Given the description of an element on the screen output the (x, y) to click on. 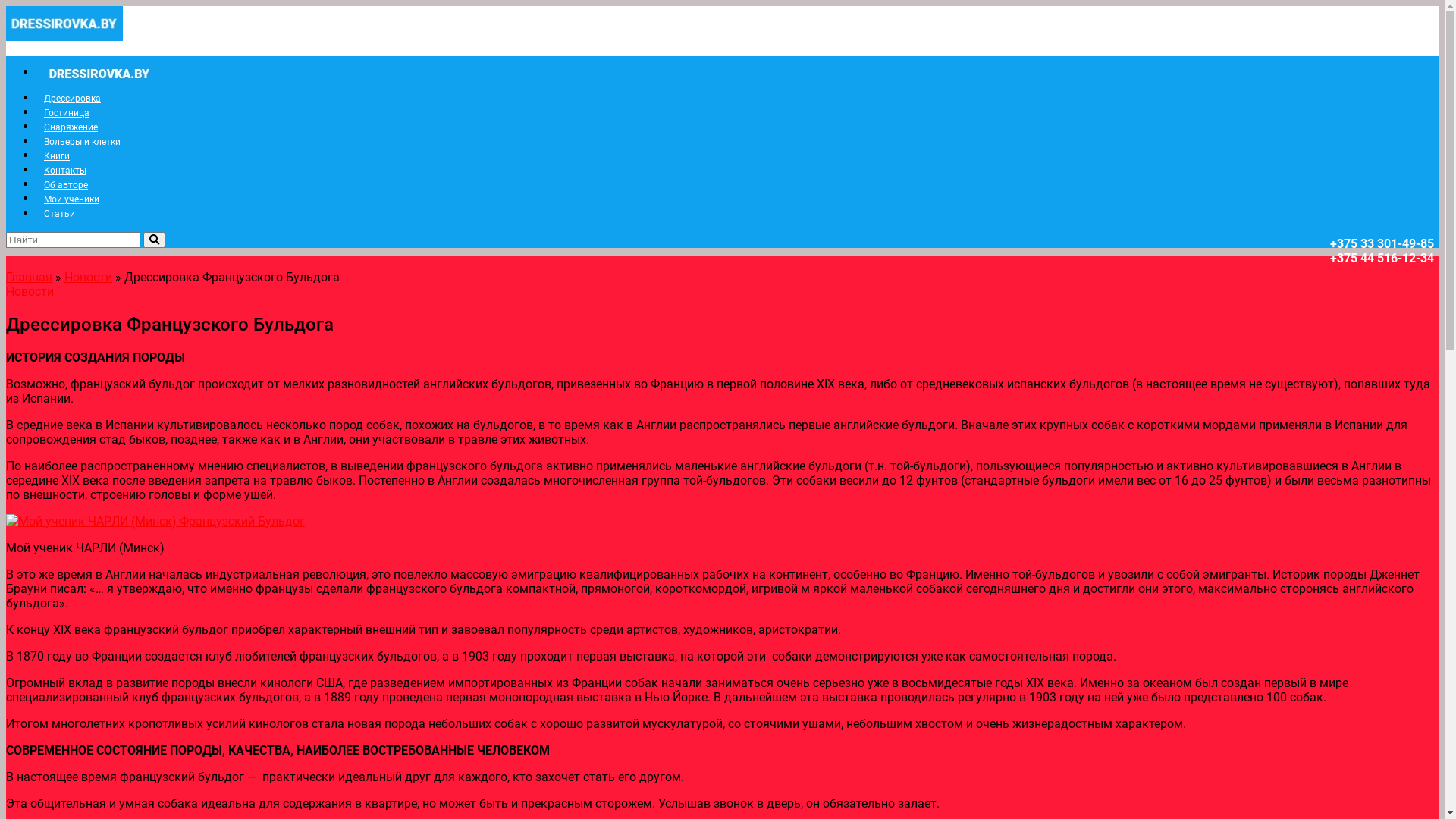
+375 33 301-49-85 Element type: text (1382, 243)
+375 44 516-12-34 Element type: text (1382, 258)
